Given the description of an element on the screen output the (x, y) to click on. 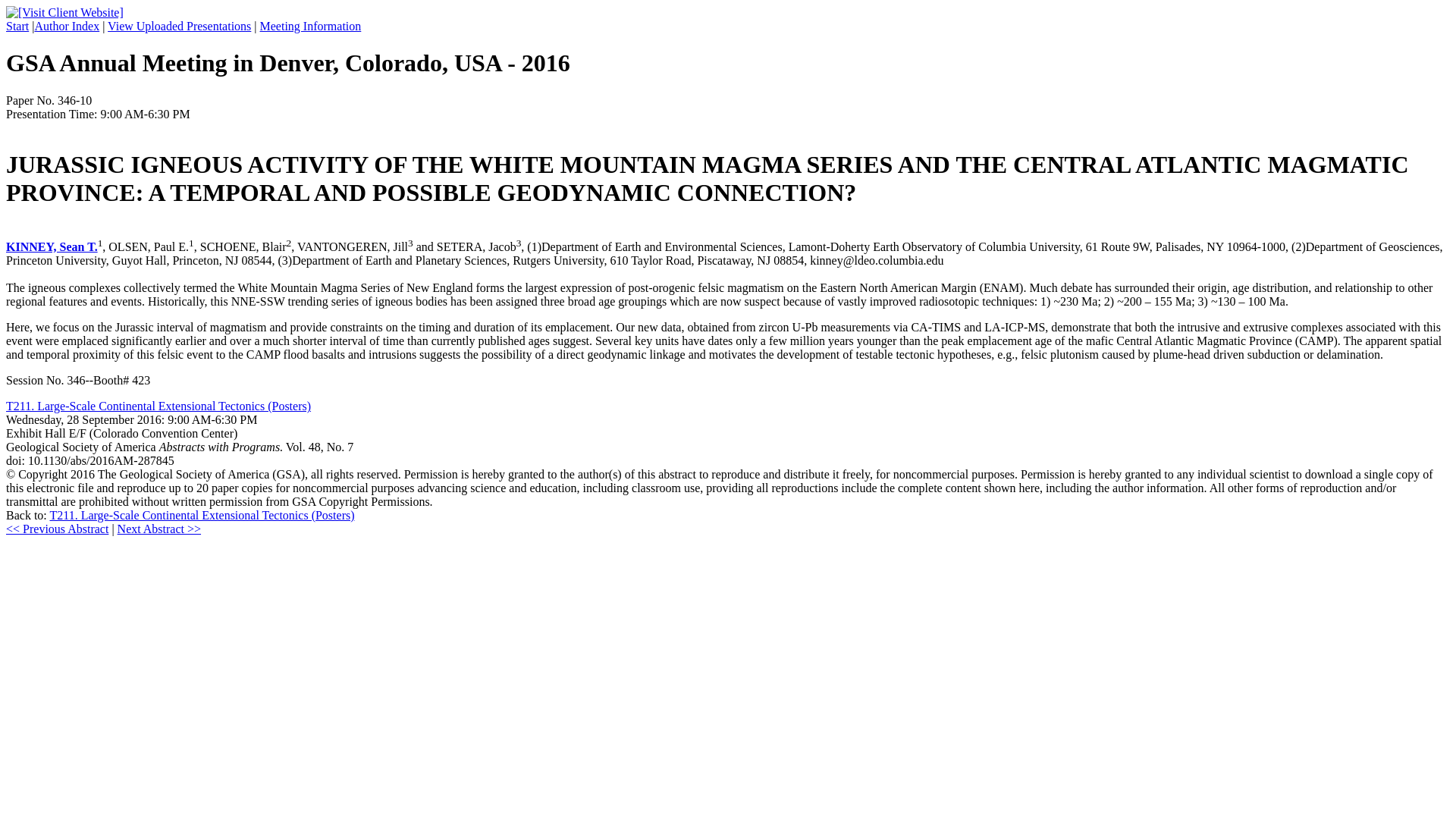
KINNEY, Sean T. (51, 246)
Meeting Information (310, 25)
View Uploaded Presentations (178, 25)
Start (17, 25)
Author Index (66, 25)
